Given the description of an element on the screen output the (x, y) to click on. 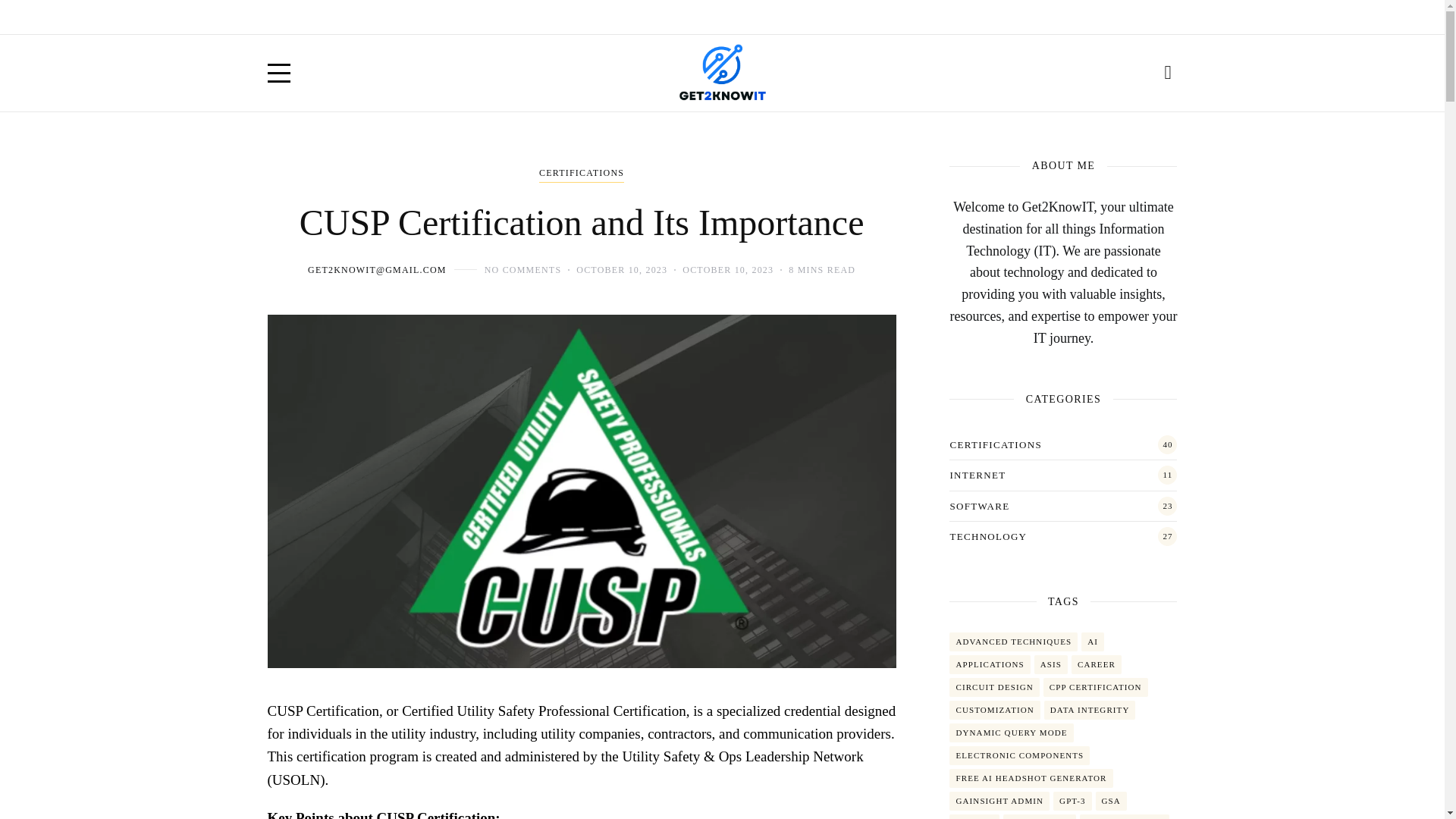
HOME (282, 17)
ABOUT US (340, 17)
Categories (581, 174)
CERTIFICATIONS (581, 174)
NO COMMENTS (523, 269)
CONTACT US (416, 17)
Facebook (1069, 16)
Twitter (1102, 16)
Pinterest (1169, 16)
